Given the description of an element on the screen output the (x, y) to click on. 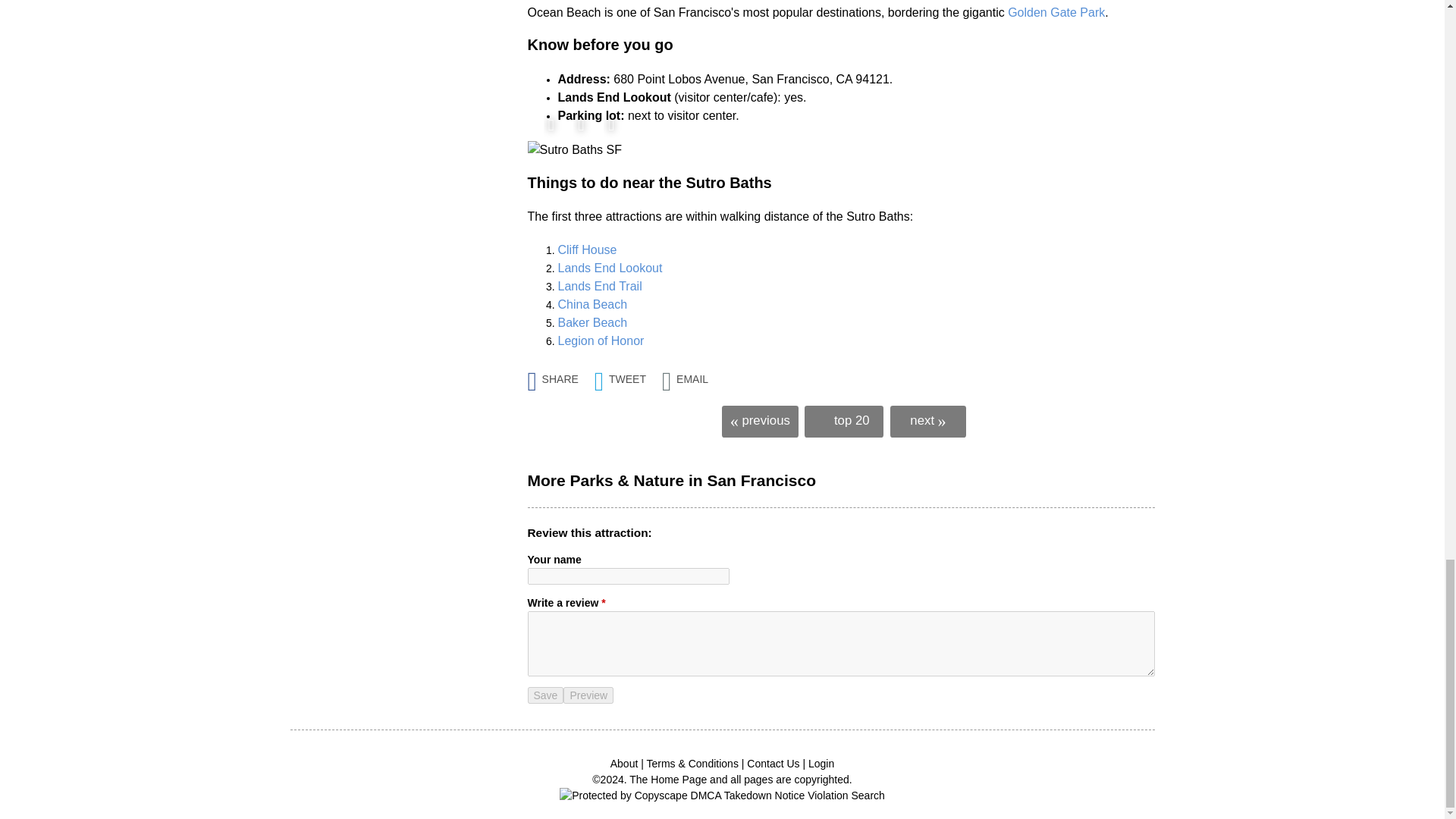
Preview (587, 695)
Sutro Baths SF (575, 149)
Save (545, 695)
